Given the description of an element on the screen output the (x, y) to click on. 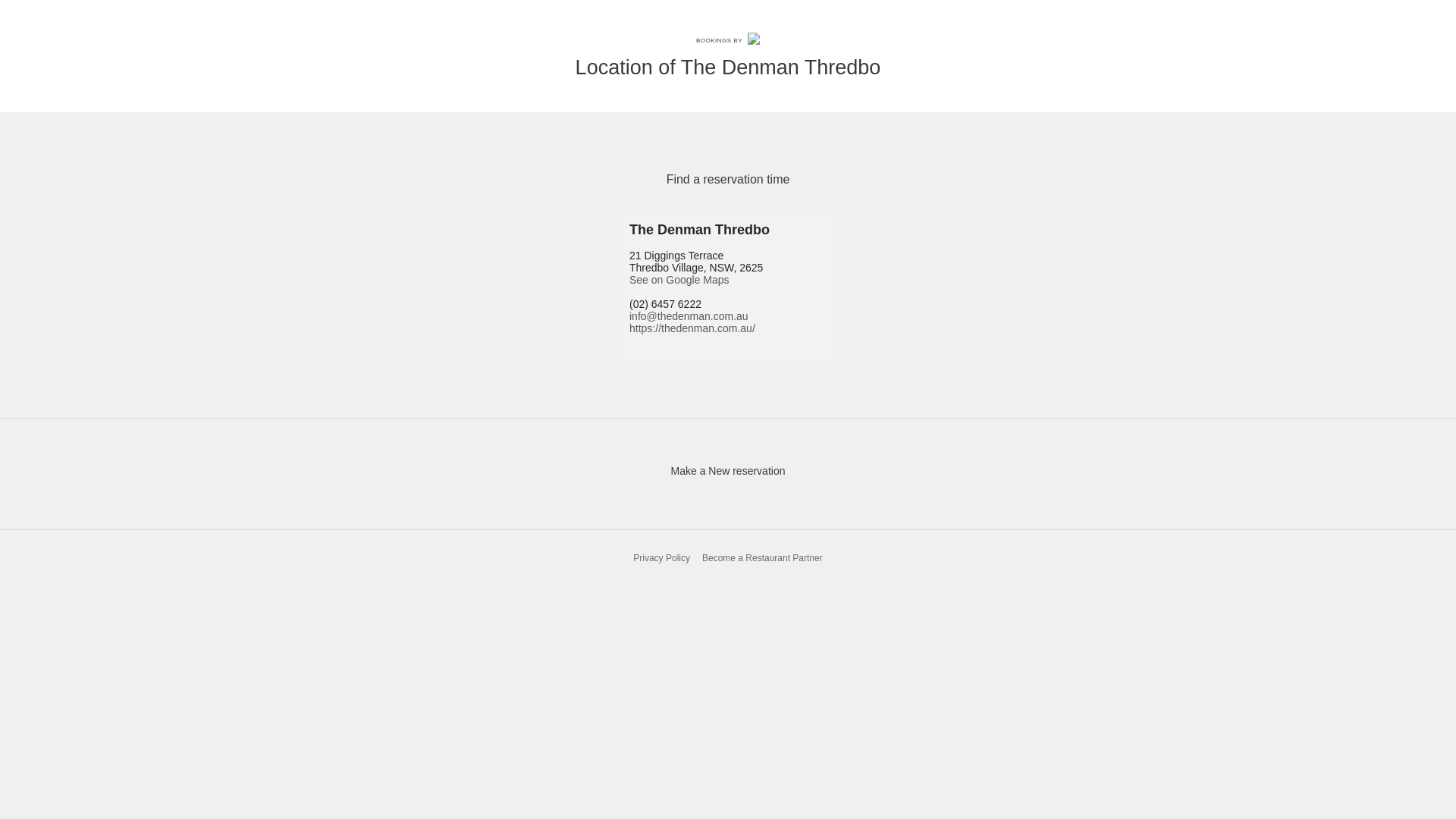
Privacy Policy Element type: text (661, 557)
https://thedenman.com.au/ Element type: text (692, 328)
See on Google Maps Element type: text (679, 279)
Become a Restaurant Partner Element type: text (762, 557)
Make a New reservation Element type: text (728, 470)
info@thedenman.com.au Element type: text (688, 316)
